Given the description of an element on the screen output the (x, y) to click on. 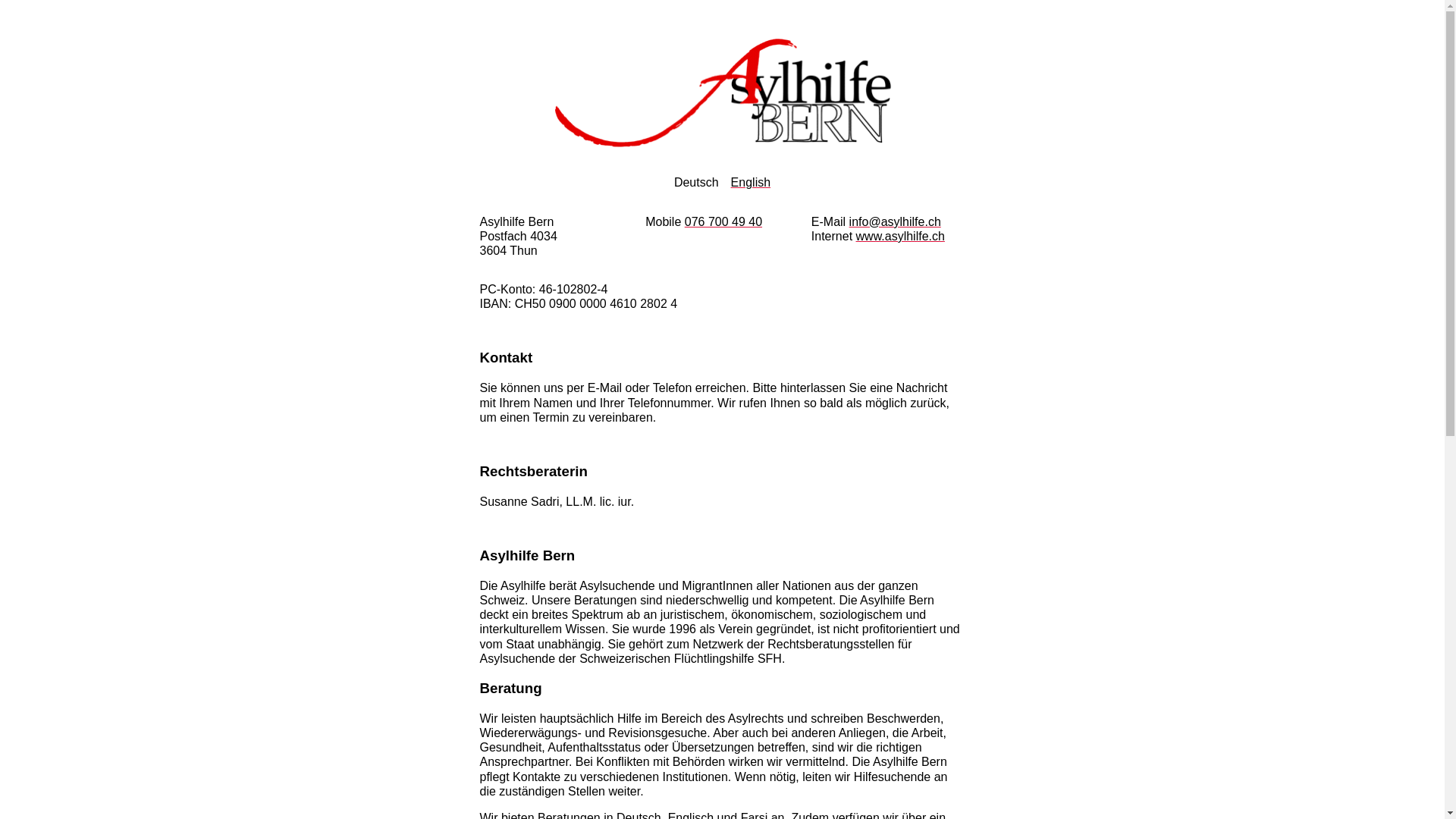
www.asylhilfe.ch Element type: text (900, 235)
English Element type: text (750, 182)
info@asylhilfe.ch Element type: text (895, 221)
Deutsch Element type: text (696, 182)
076 700 49 40 Element type: text (723, 221)
